Given the description of an element on the screen output the (x, y) to click on. 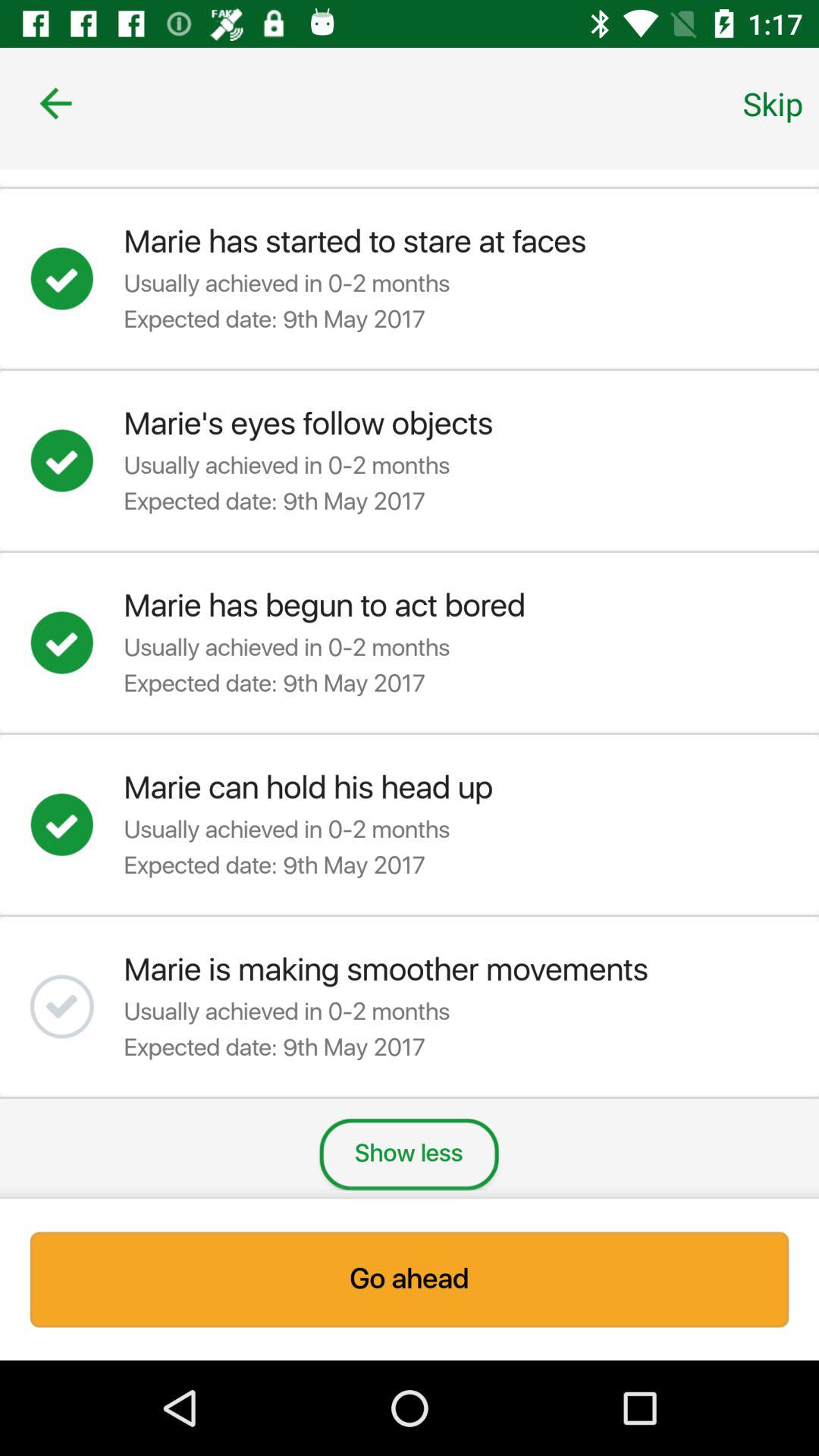
confirm (76, 824)
